Given the description of an element on the screen output the (x, y) to click on. 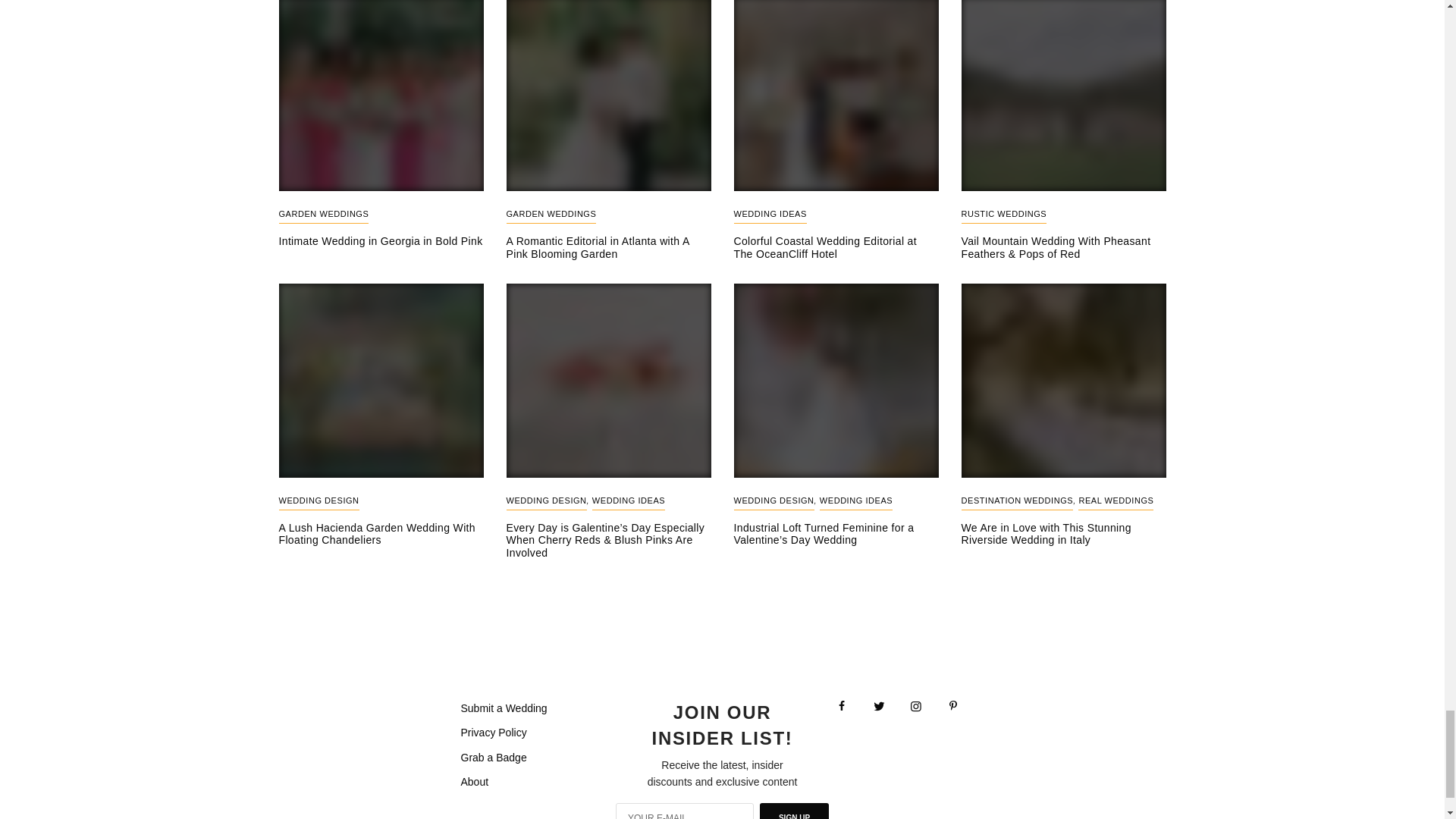
Intimate Wedding in Georgia in Bold Pink (381, 241)
A Romantic Editorial in Atlanta with A Pink Blooming Garden (608, 248)
